Given the description of an element on the screen output the (x, y) to click on. 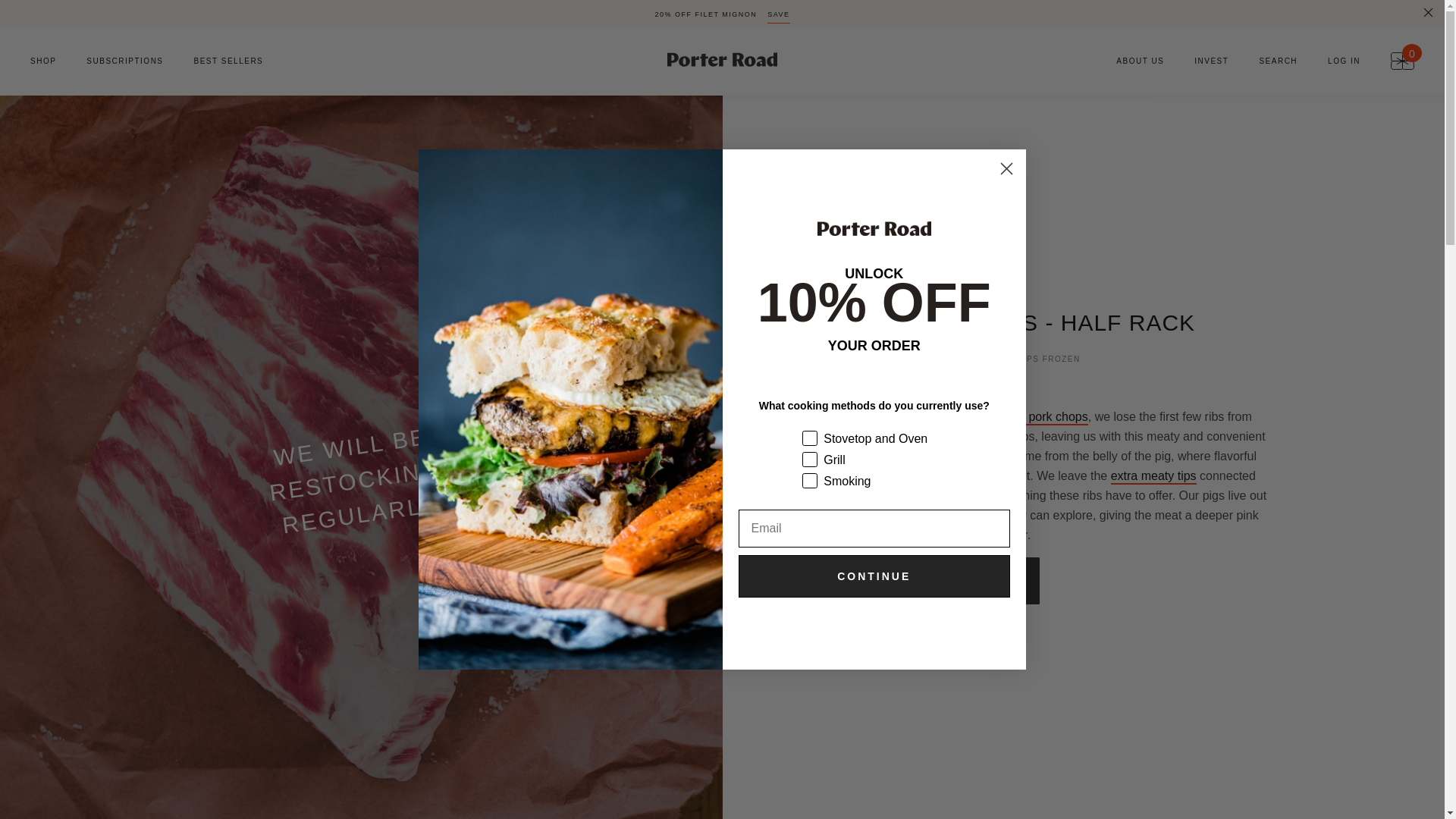
ABOUT US (1132, 61)
SEARCH (1278, 61)
SAVE (778, 16)
INVEST (1211, 61)
SUBSCRIPTIONS (124, 61)
LOG IN (1344, 61)
SHOP (35, 61)
Double Cut Pork Chops (1028, 417)
BEST SELLERS (236, 61)
